Given the description of an element on the screen output the (x, y) to click on. 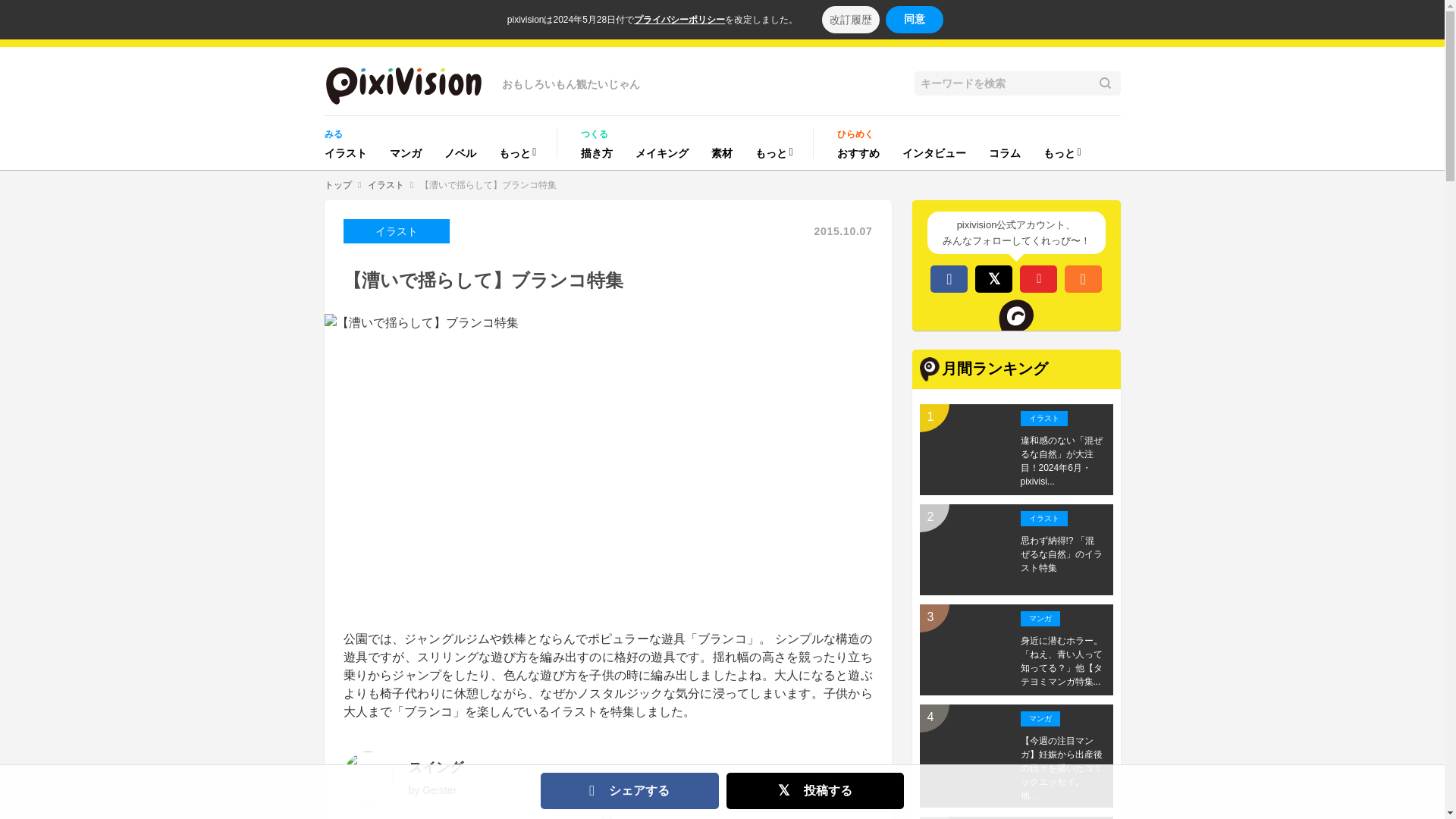
Geister (439, 789)
